Given the description of an element on the screen output the (x, y) to click on. 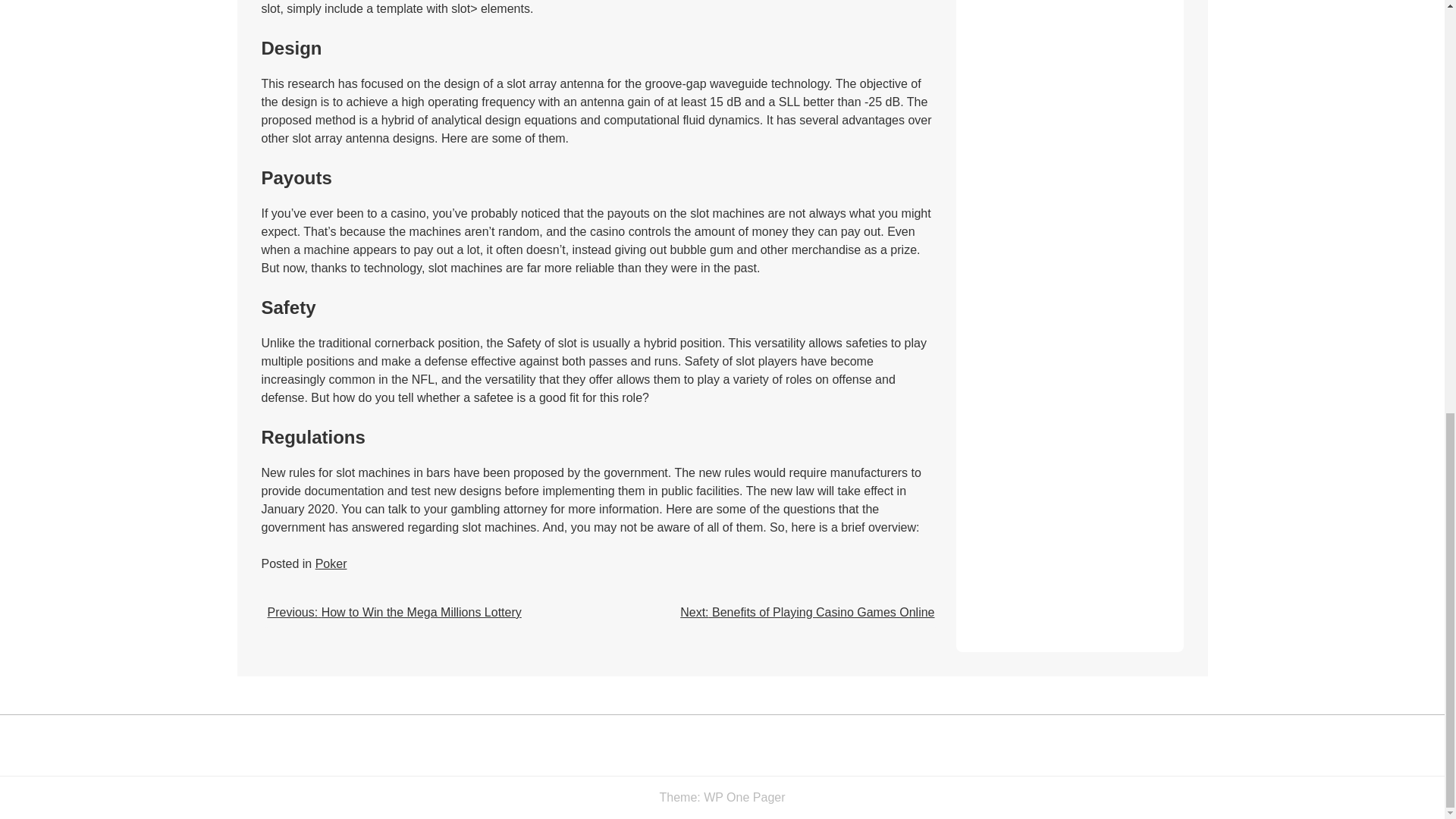
Previous: How to Win the Mega Millions Lottery (393, 612)
Next: Benefits of Playing Casino Games Online (806, 612)
WP One Pager (743, 797)
Poker (331, 563)
